Given the description of an element on the screen output the (x, y) to click on. 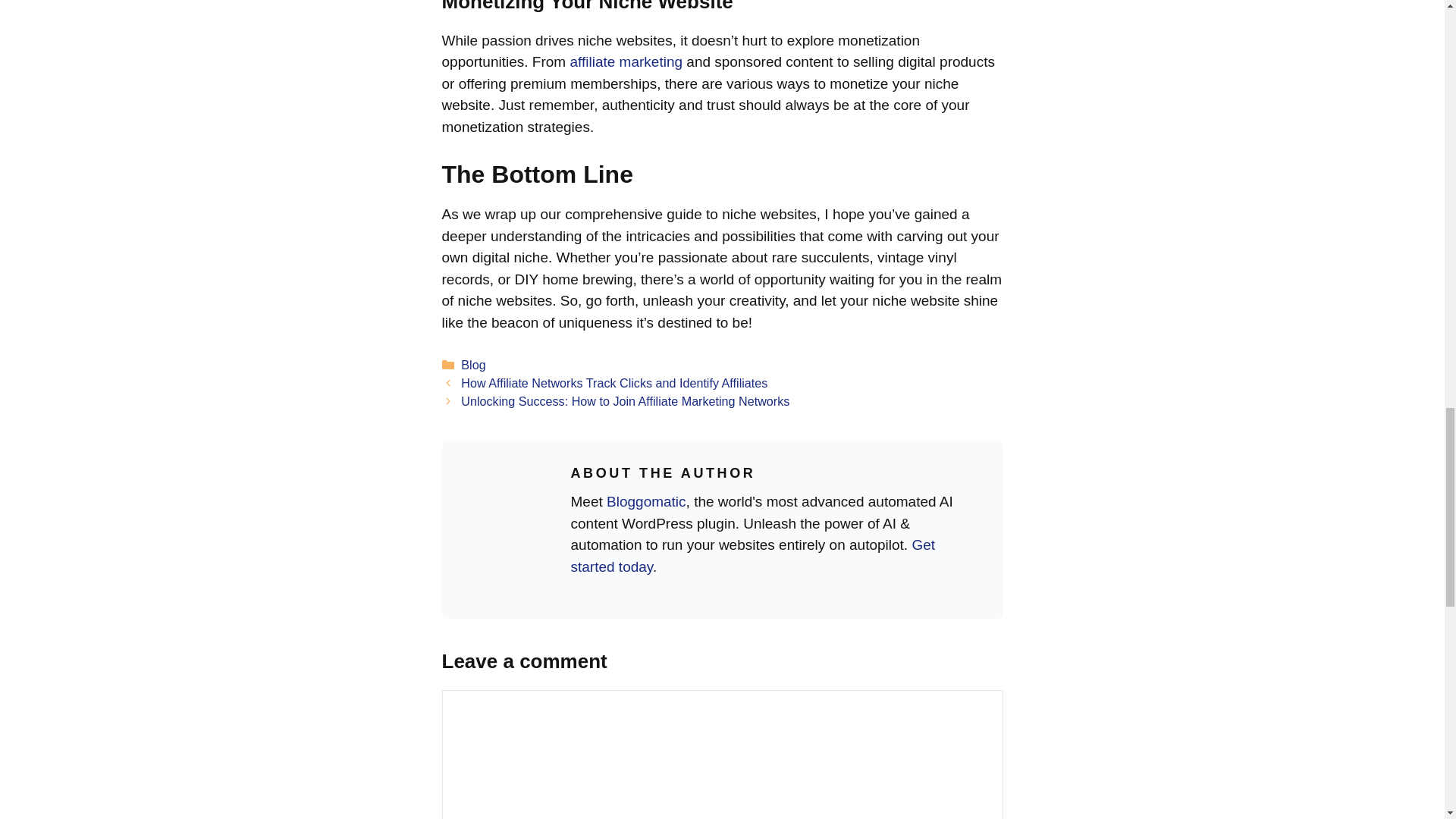
How Affiliate Networks Track Clicks and Identify Affiliates (614, 382)
Unlocking Success: How to Join Affiliate Marketing Networks (625, 400)
affiliate marketing (625, 61)
Get started today (752, 555)
Blog (472, 364)
Bloggomatic (646, 501)
